Given the description of an element on the screen output the (x, y) to click on. 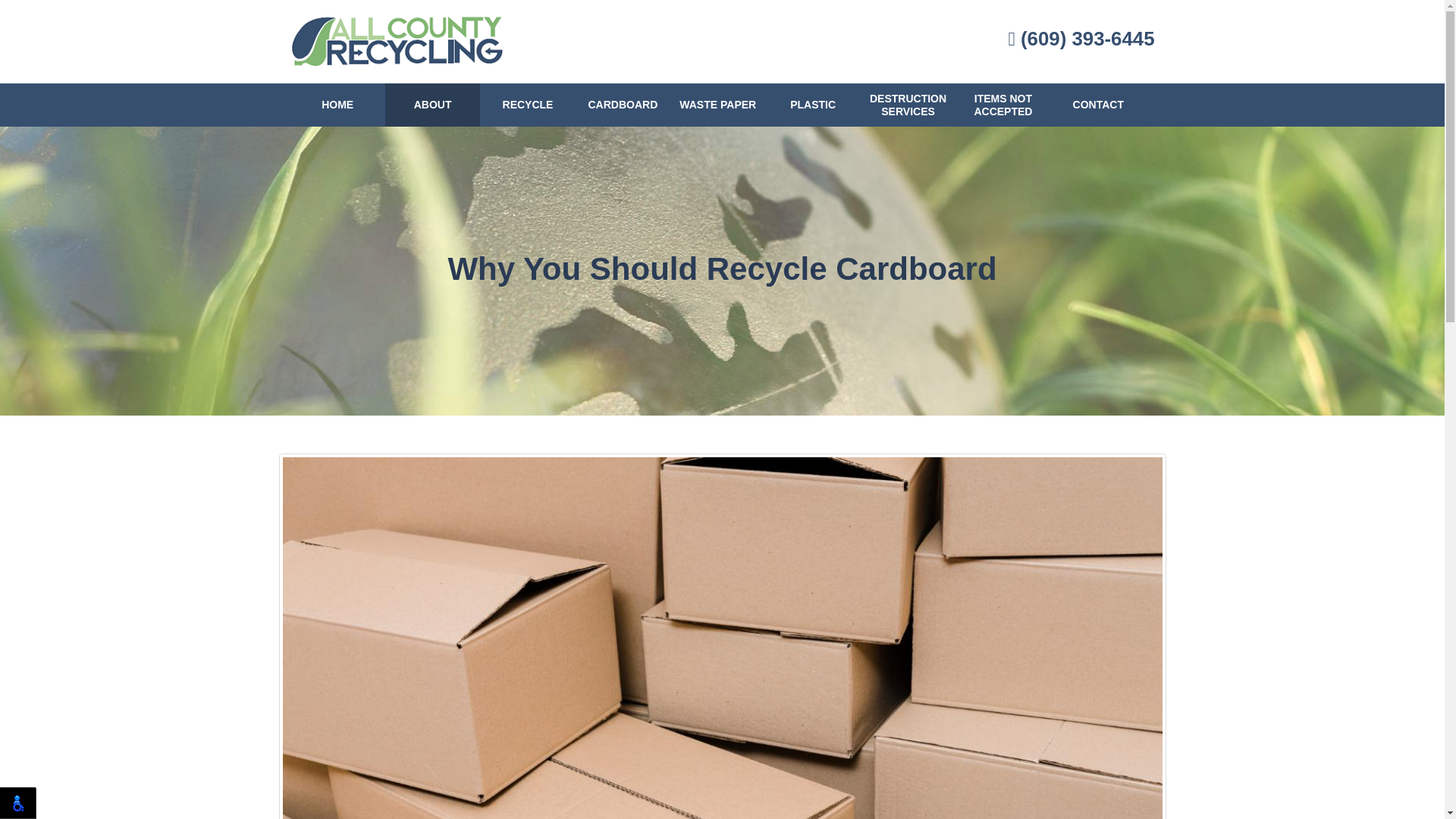
CARDBOARD (622, 104)
CONTACT (1098, 104)
All County Recycling (396, 41)
WASTE PAPER (717, 104)
HOME (336, 104)
Destruction Services (907, 104)
About (432, 104)
ITEMS NOT ACCEPTED (1002, 104)
Waste Paper (717, 104)
RECYCLE (527, 104)
Items Not Accepted (1002, 104)
Recycle (527, 104)
Home (336, 104)
Contact (1098, 104)
ABOUT (432, 104)
